Given the description of an element on the screen output the (x, y) to click on. 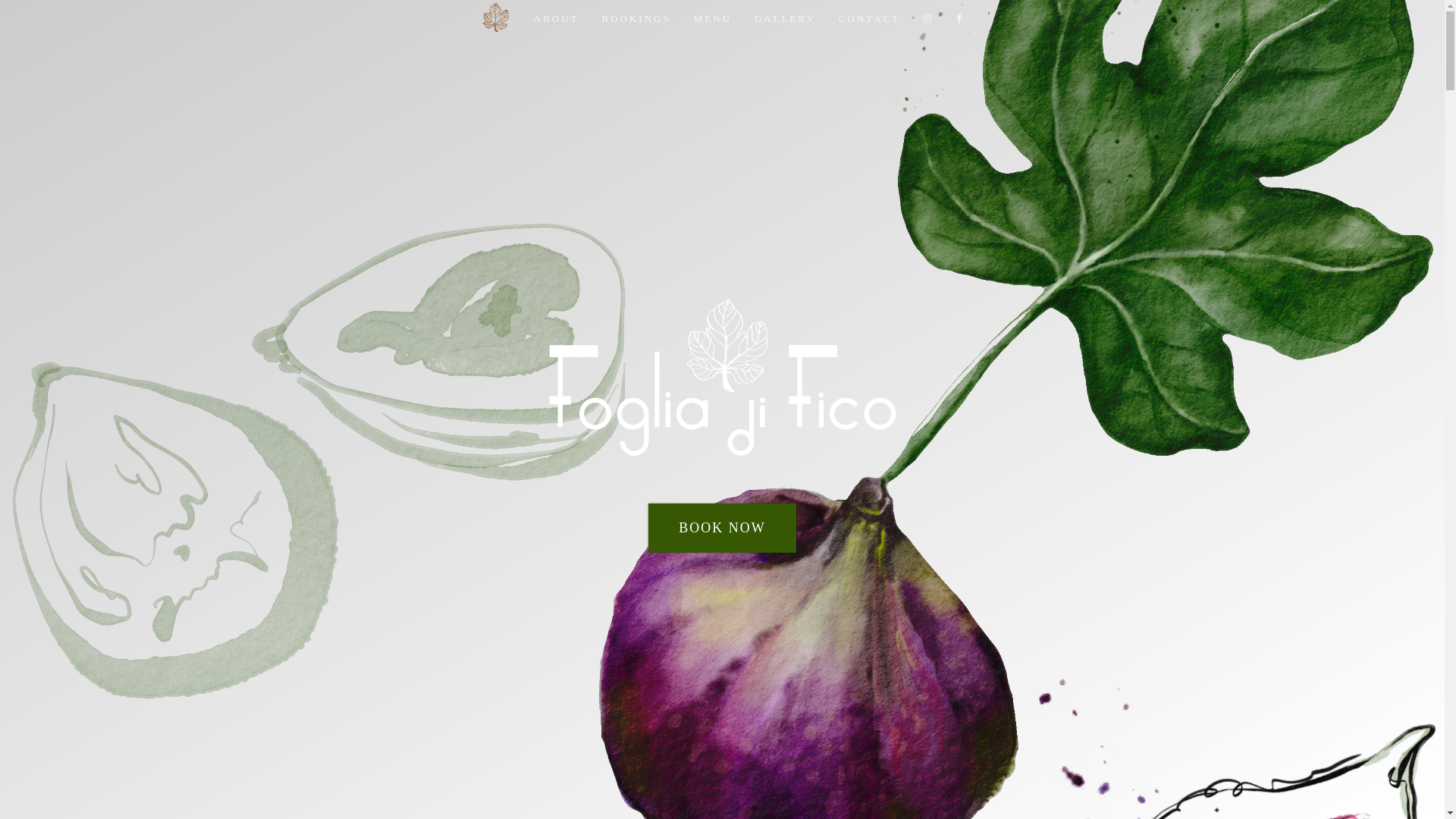
CONTACT Element type: text (869, 18)
ABOUT Element type: text (556, 18)
BOOKINGS Element type: text (635, 18)
GALLERY Element type: text (785, 18)
MENU Element type: text (712, 18)
BOOK NOW Element type: text (721, 526)
